Given the description of an element on the screen output the (x, y) to click on. 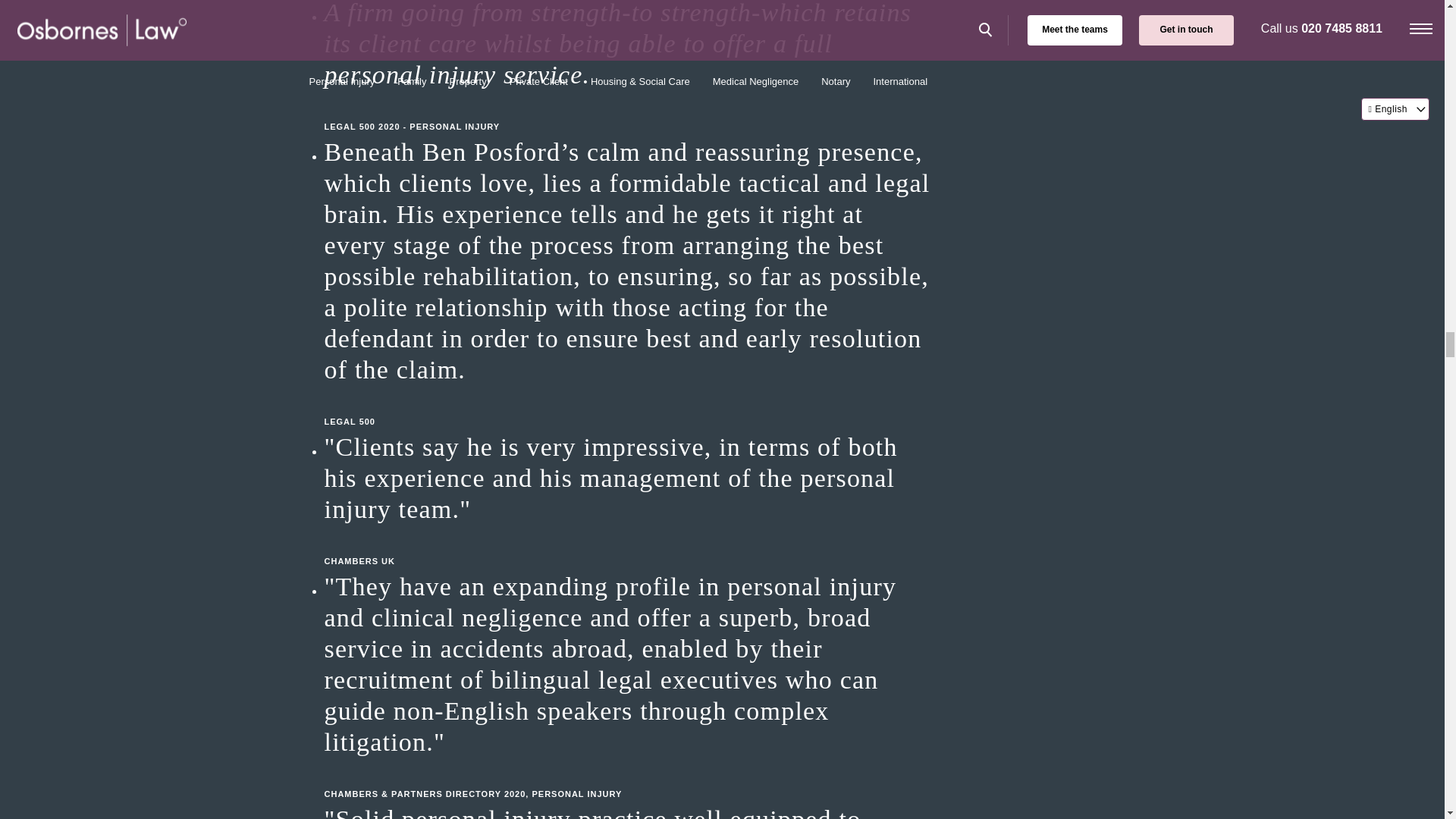
LEGAL 500 (627, 405)
LEGAL 500 2020 - PERSONAL INJURY (627, 111)
CHAMBERS UK (627, 545)
